Given the description of an element on the screen output the (x, y) to click on. 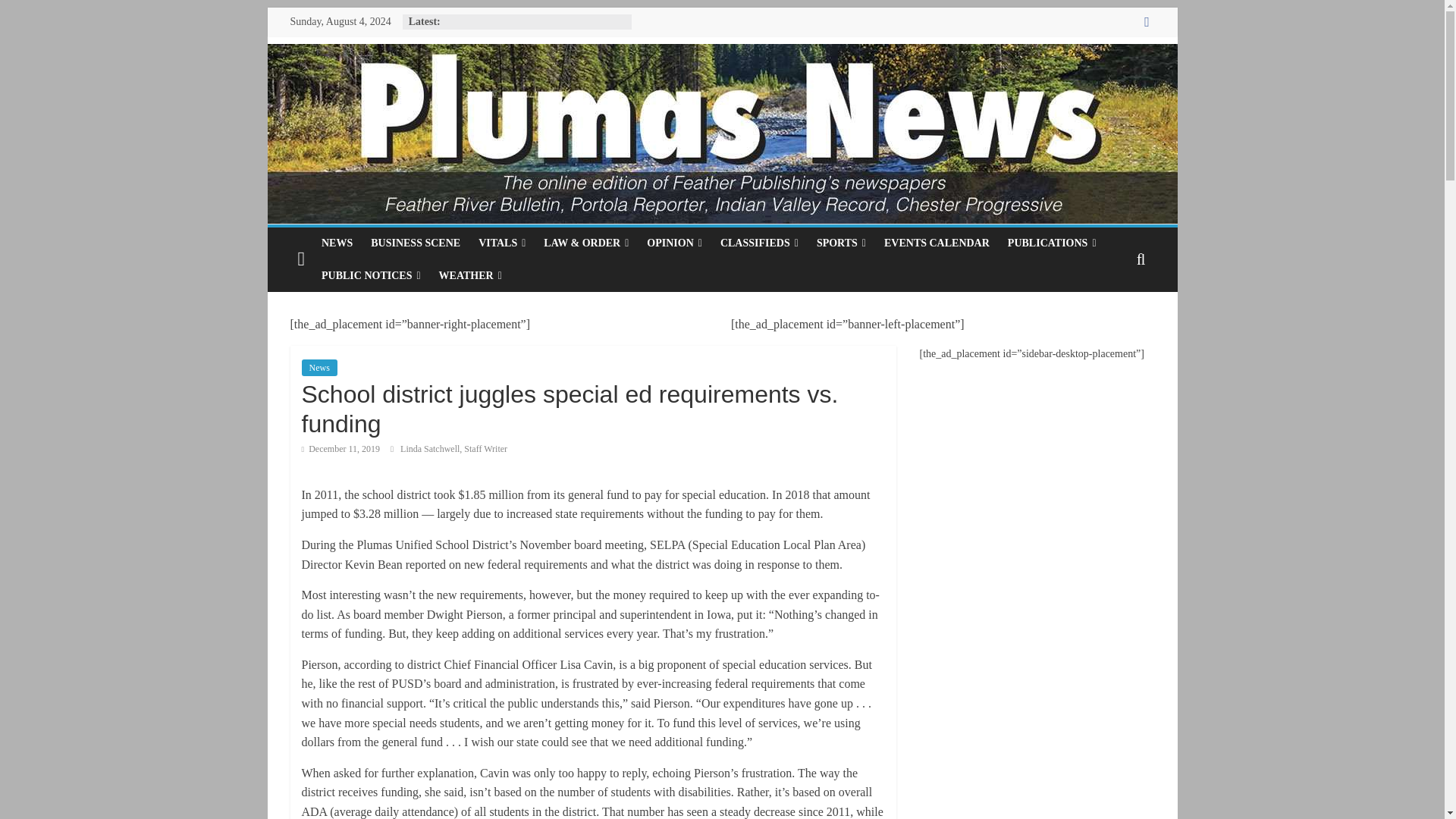
EVENTS CALENDAR (936, 243)
BUSINESS SCENE (414, 243)
NEWS (337, 243)
CLASSIFIEDS (759, 243)
PUBLICATIONS (1051, 243)
VITALS (501, 243)
Linda Satchwell, Staff Writer (453, 448)
8:00 am (340, 448)
SPORTS (841, 243)
OPINION (674, 243)
Plumas News (301, 260)
